Given the description of an element on the screen output the (x, y) to click on. 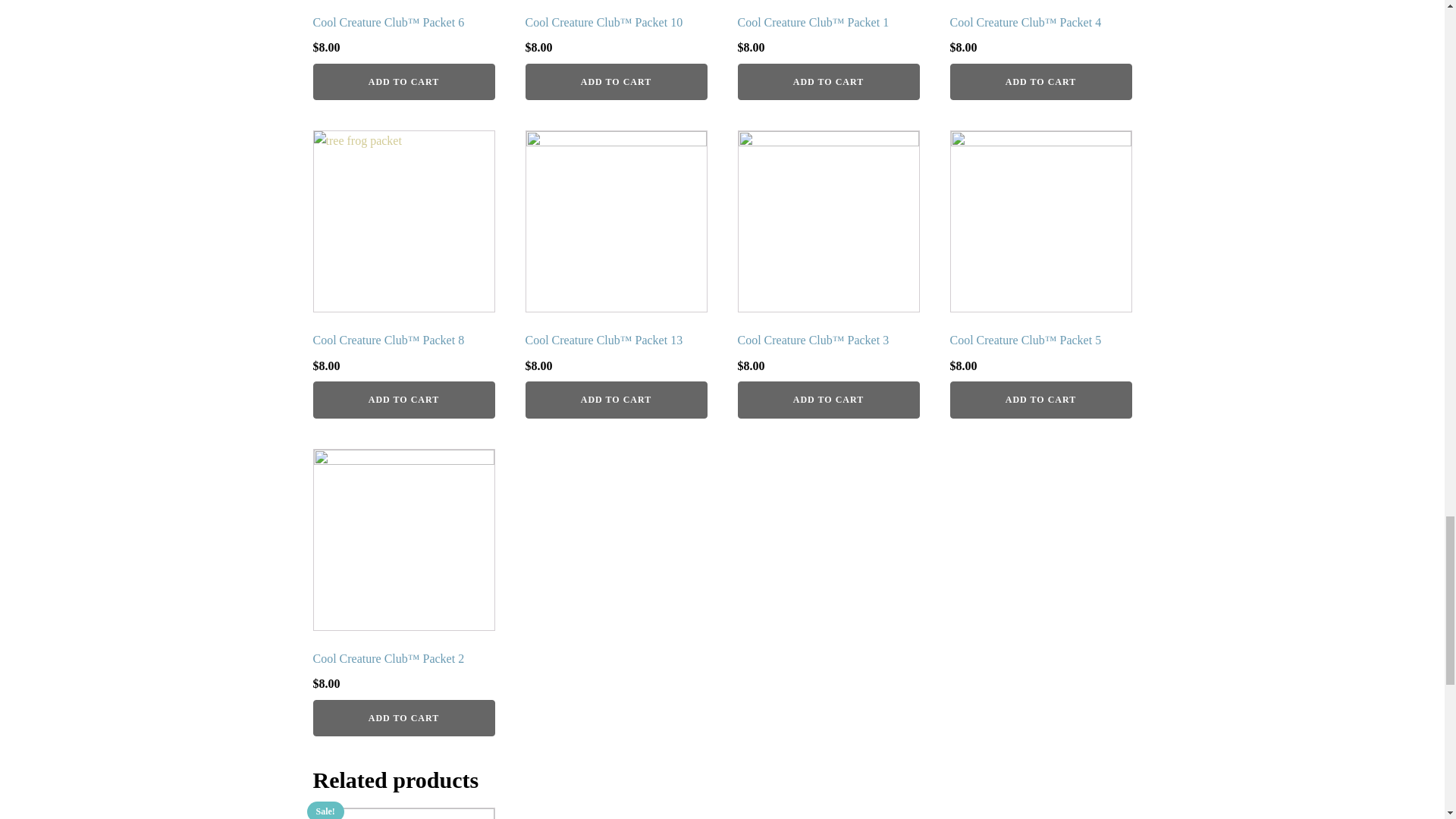
ADD TO CART (404, 81)
ADD TO CART (615, 399)
ADD TO CART (404, 399)
ADD TO CART (827, 81)
ADD TO CART (615, 81)
ADD TO CART (827, 399)
ADD TO CART (1040, 81)
